Given the description of an element on the screen output the (x, y) to click on. 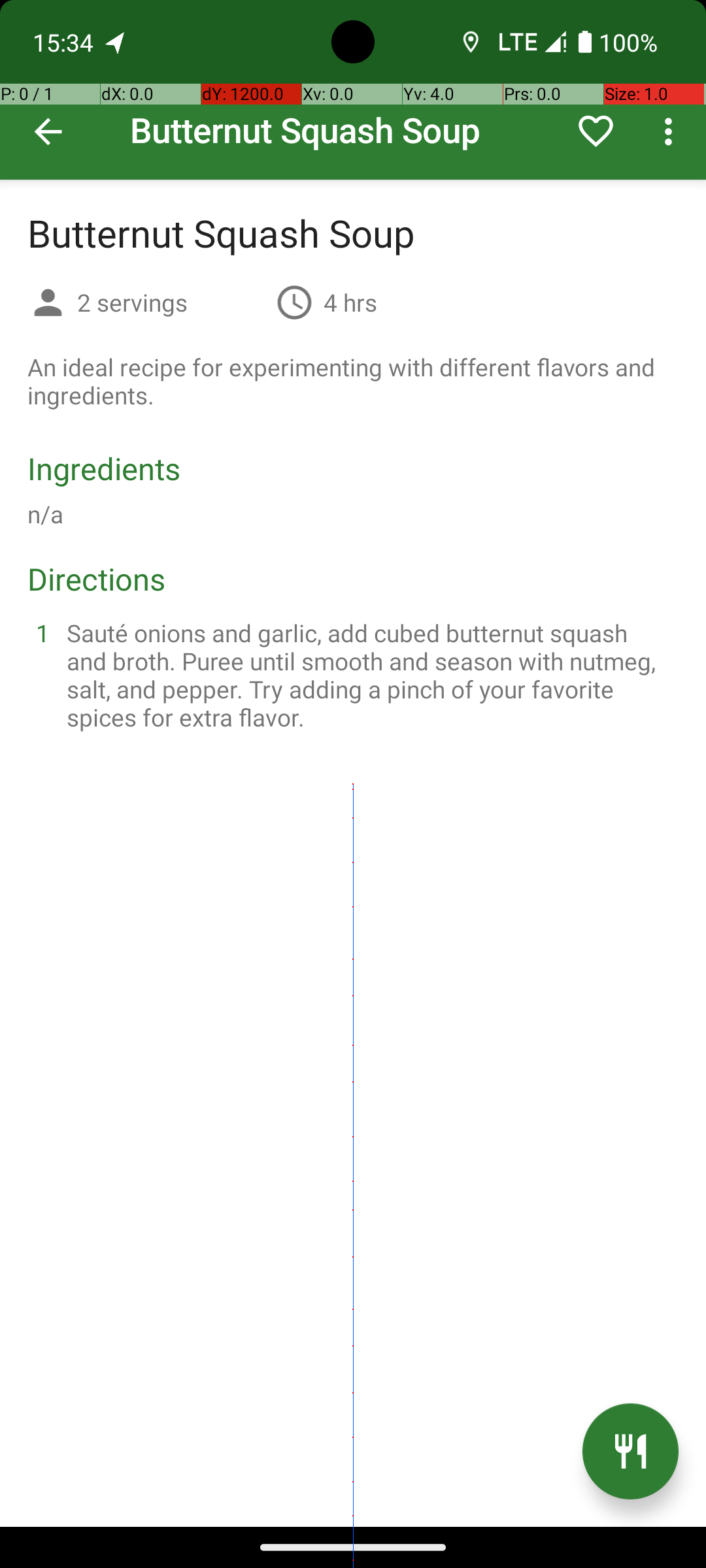
4 hrs Element type: android.widget.TextView (350, 301)
n/a Element type: android.widget.TextView (45, 513)
Sauté onions and garlic, add cubed butternut squash and broth. Puree until smooth and season with nutmeg, salt, and pepper. Try adding a pinch of your favorite spices for extra flavor. Element type: android.widget.TextView (368, 674)
OpenTracks notification:  Element type: android.widget.ImageView (115, 41)
